Given the description of an element on the screen output the (x, y) to click on. 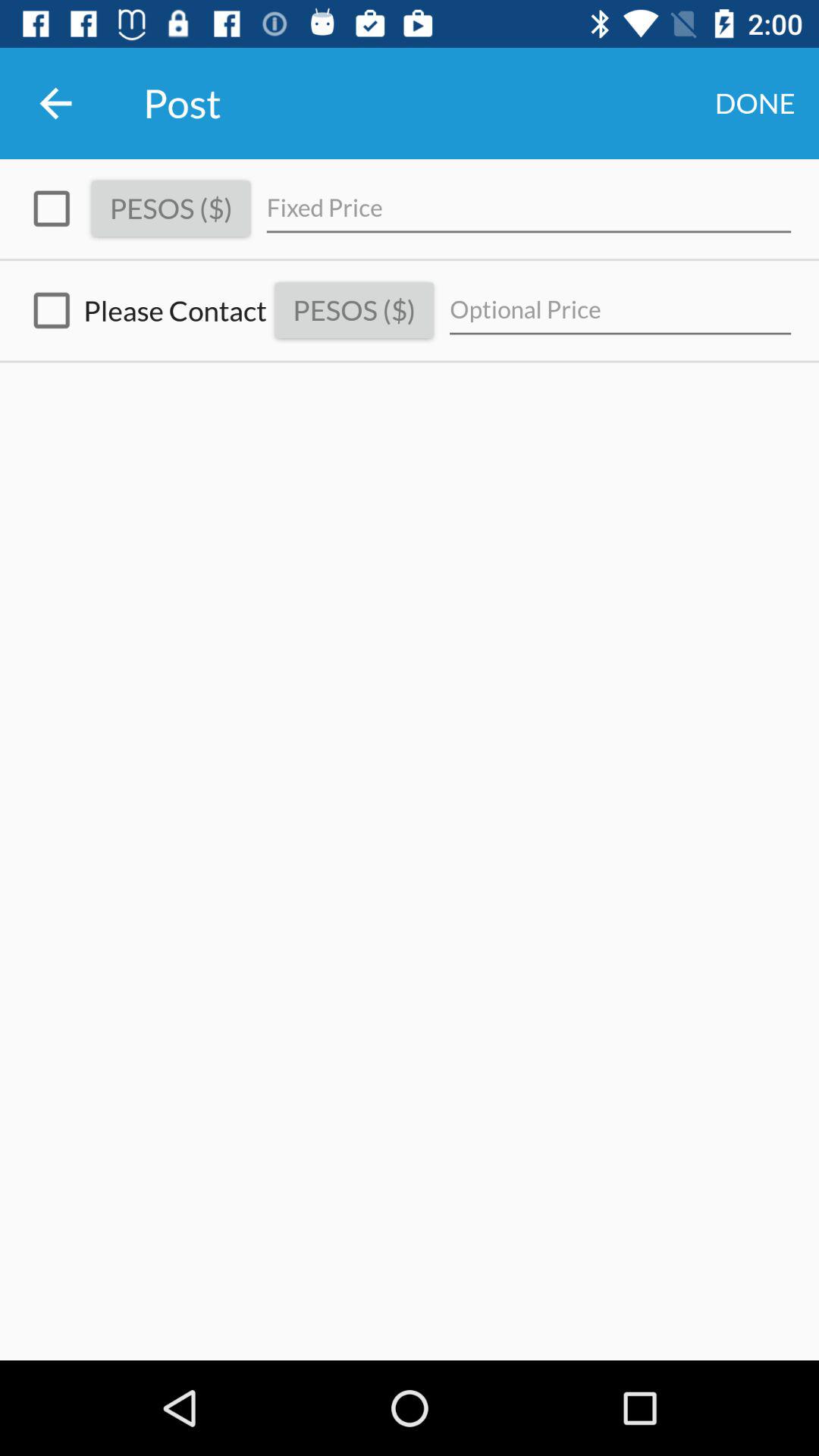
choose the item next to the pesos ($) icon (51, 208)
